Given the description of an element on the screen output the (x, y) to click on. 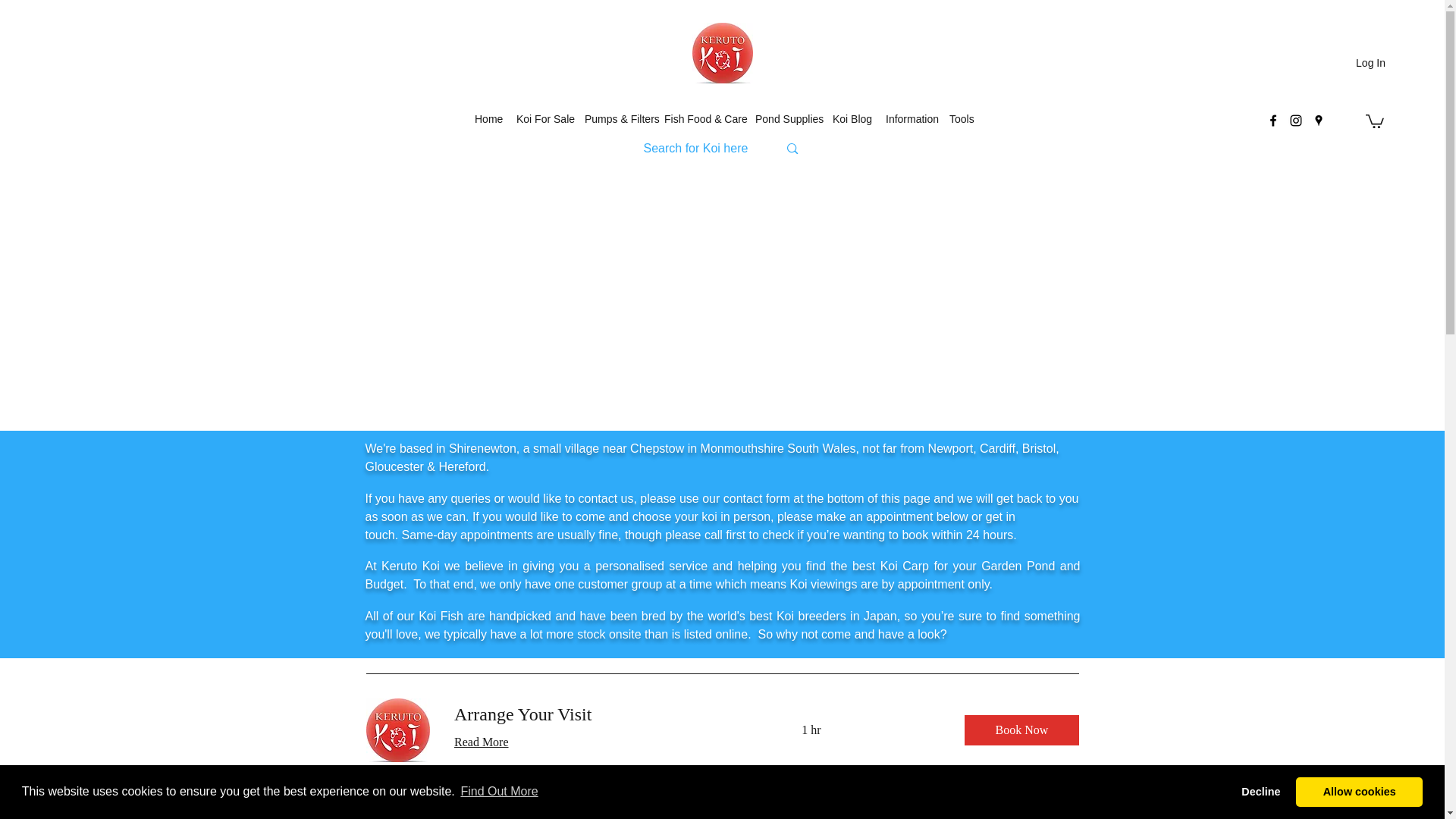
Allow cookies (1358, 791)
Koi Blog (851, 118)
Decline (1260, 791)
Koi For Sale (542, 118)
Log In (1370, 63)
Home (487, 118)
Find Out More (499, 791)
Pond Supplies (786, 118)
